Given the description of an element on the screen output the (x, y) to click on. 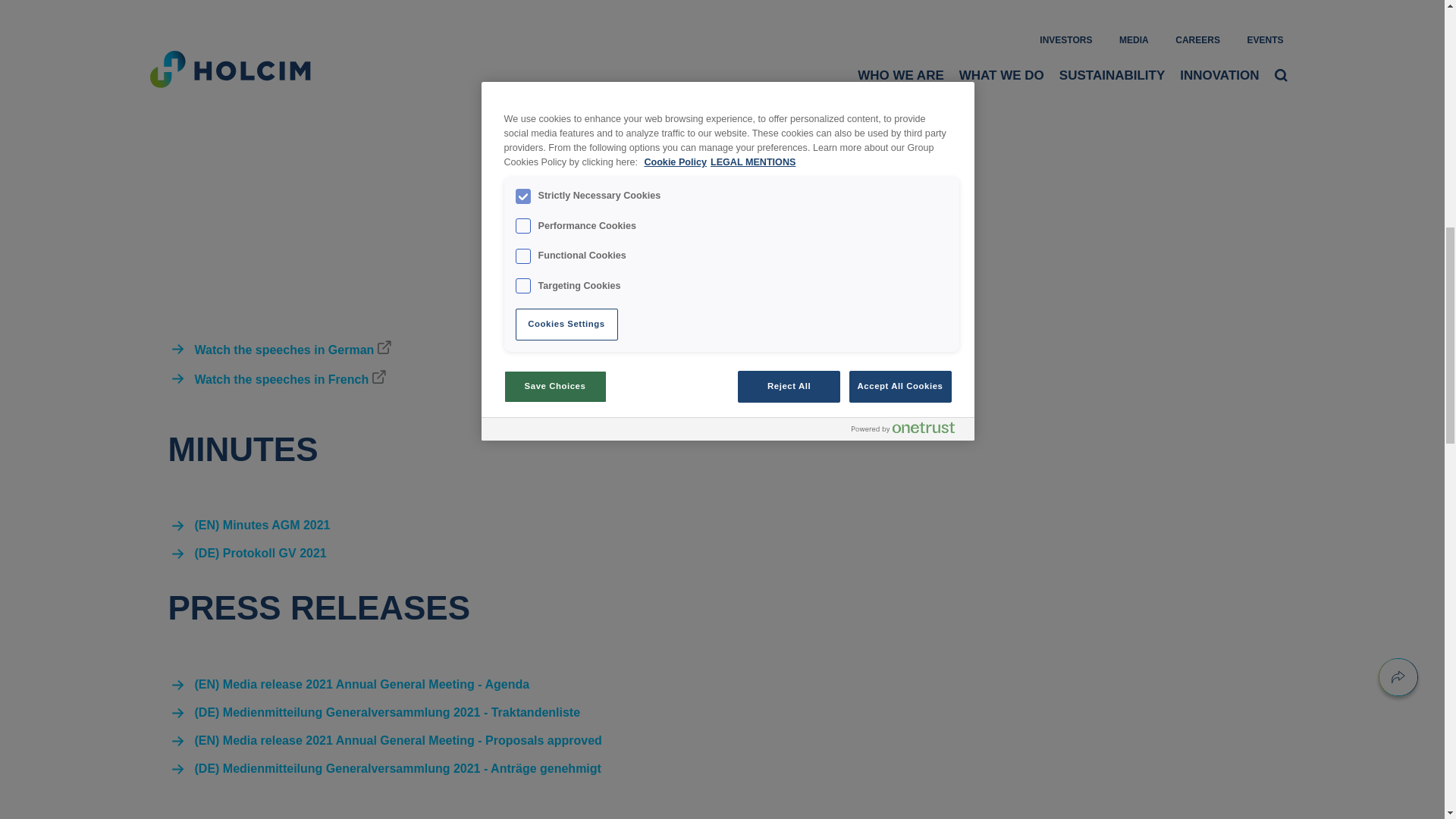
YouTube video player (380, 176)
Watch the speeches in French (289, 379)
Watch the speeches in German (292, 349)
